Given the description of an element on the screen output the (x, y) to click on. 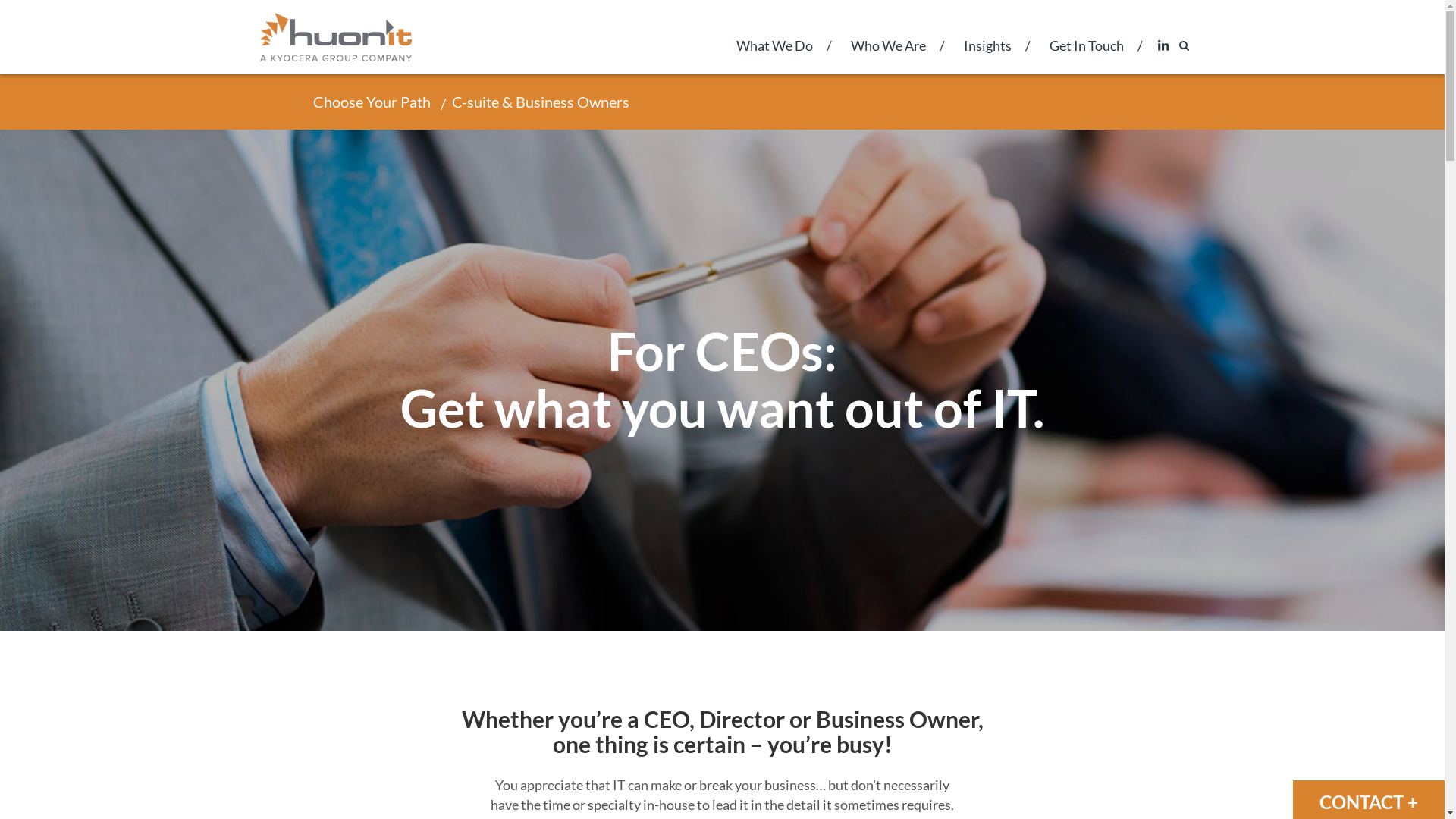
Get In Touch Element type: text (1085, 55)
C-suite & Business Owners Element type: text (537, 101)
What We Do Element type: text (774, 55)
Insights Element type: text (987, 55)
Who We Are Element type: text (887, 55)
Choose Your Path Element type: text (374, 101)
